Given the description of an element on the screen output the (x, y) to click on. 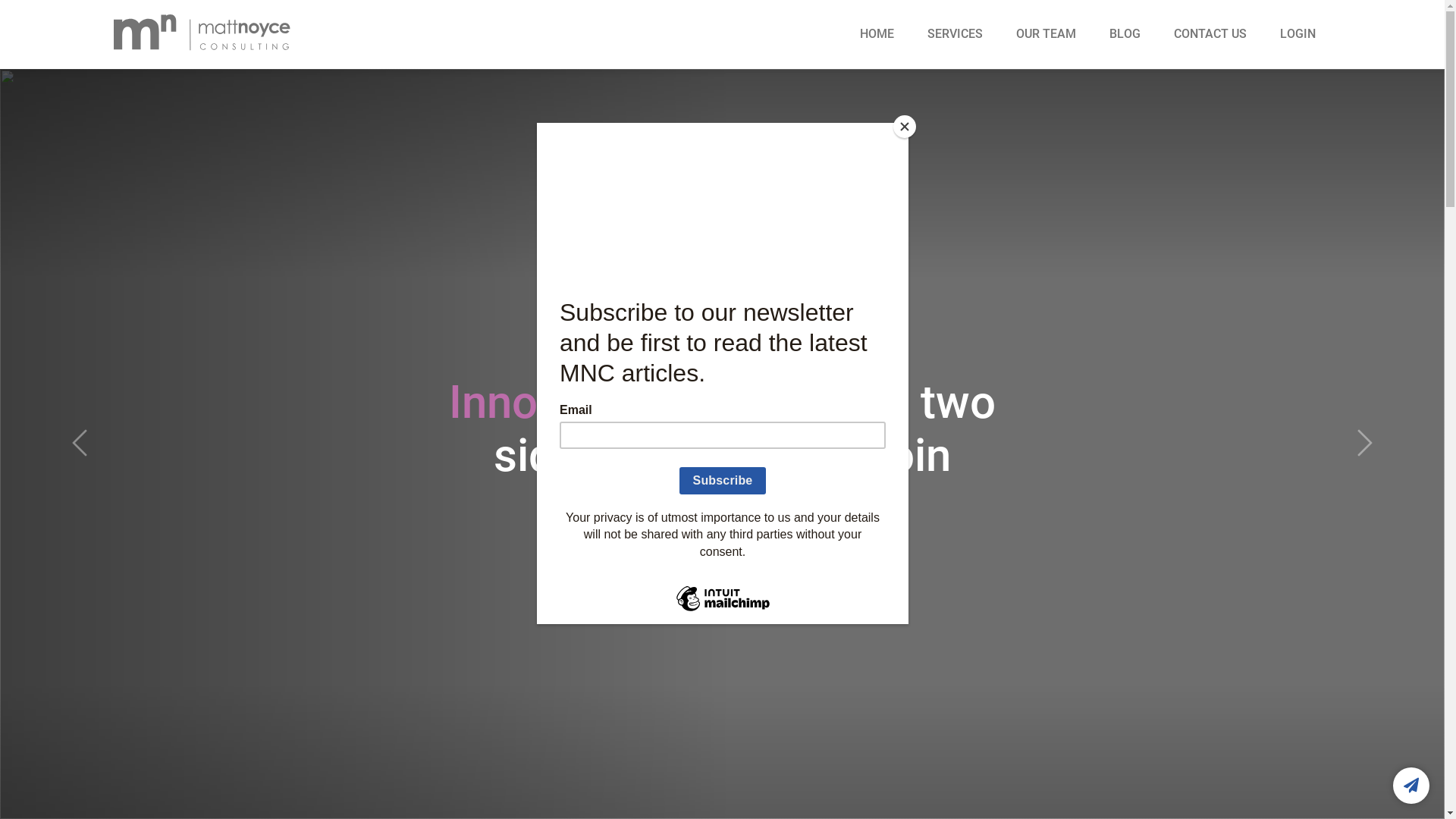
BLOG Element type: text (1126, 33)
CONTACT US Element type: text (1211, 33)
OUR TEAM Element type: text (1047, 33)
LOGIN Element type: text (1297, 33)
HOME Element type: text (878, 33)
SERVICES Element type: text (956, 33)
